Given the description of an element on the screen output the (x, y) to click on. 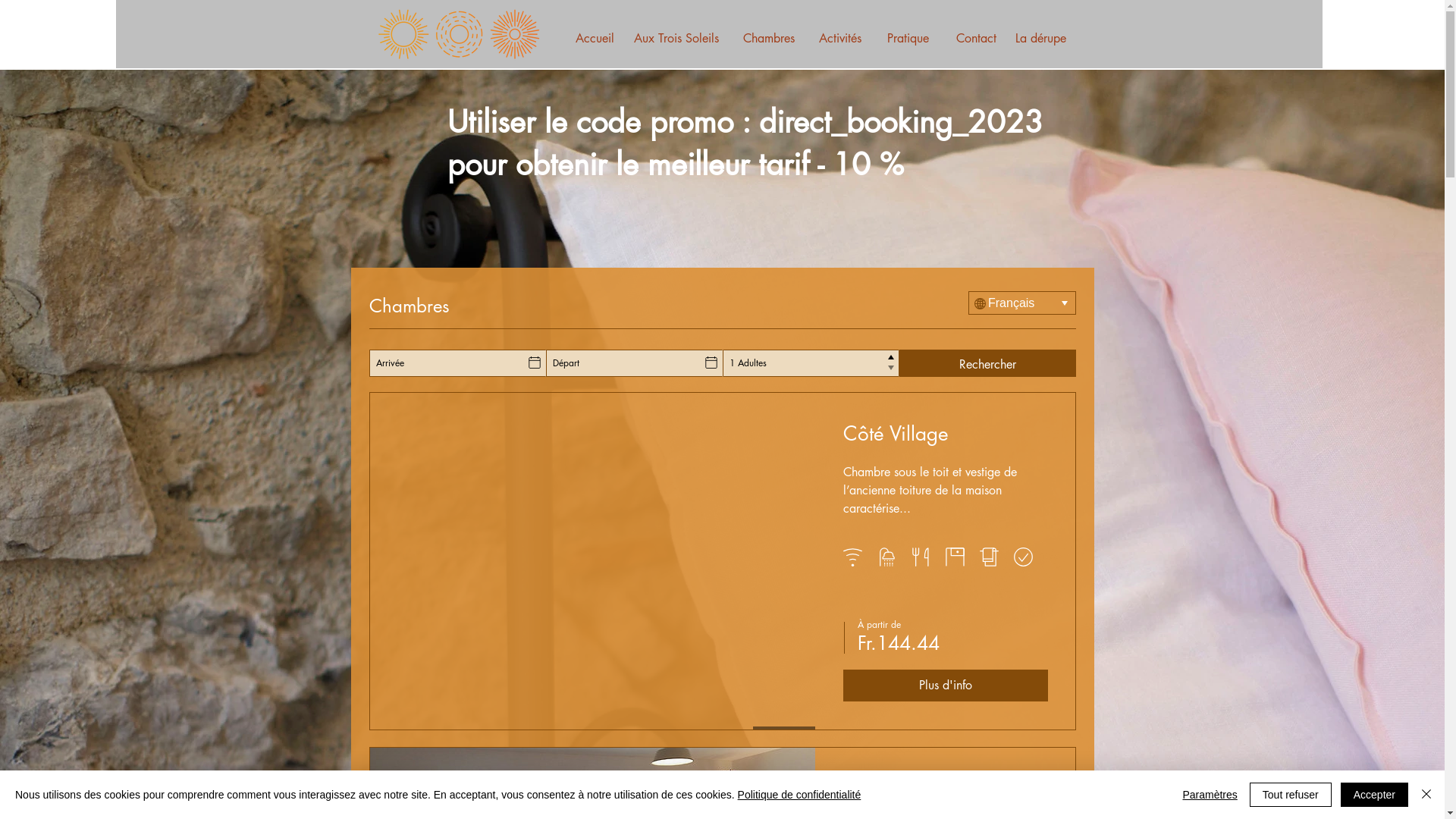
Aux_3_Soleils_Logo_50mm_H_jaune-orange.png Element type: hover (457, 33)
Accueil Element type: text (594, 38)
Contact Element type: text (975, 38)
Accepter Element type: text (1374, 794)
Pratique Element type: text (907, 38)
Tout refuser Element type: text (1290, 794)
Aux Trois Soleils Element type: text (675, 38)
Chambres Element type: text (768, 38)
